Given the description of an element on the screen output the (x, y) to click on. 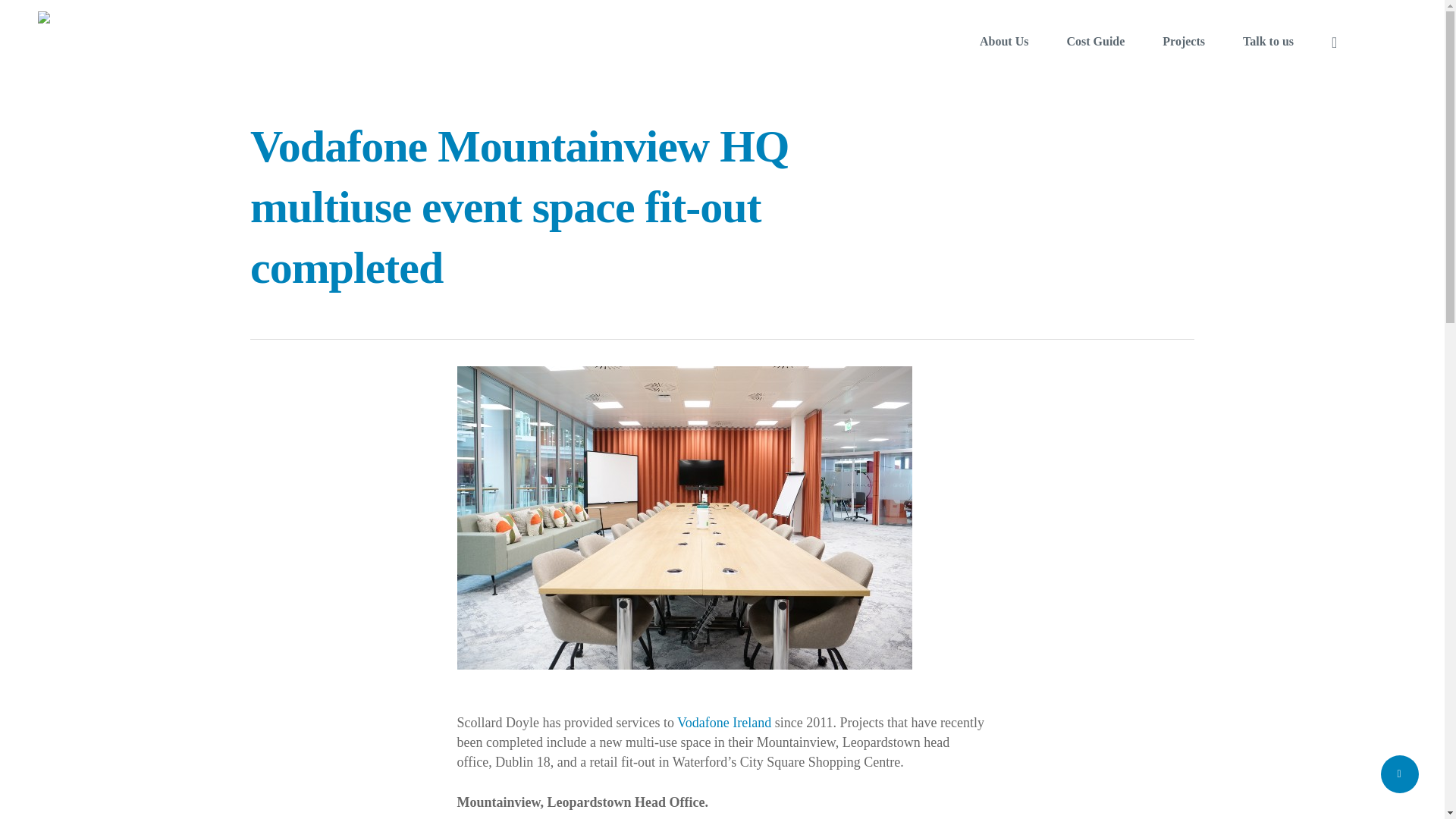
About Us (1003, 41)
Talk to us (1268, 41)
Projects (1183, 41)
Cost Guide (1094, 41)
Vodafone Ireland (724, 722)
